Given the description of an element on the screen output the (x, y) to click on. 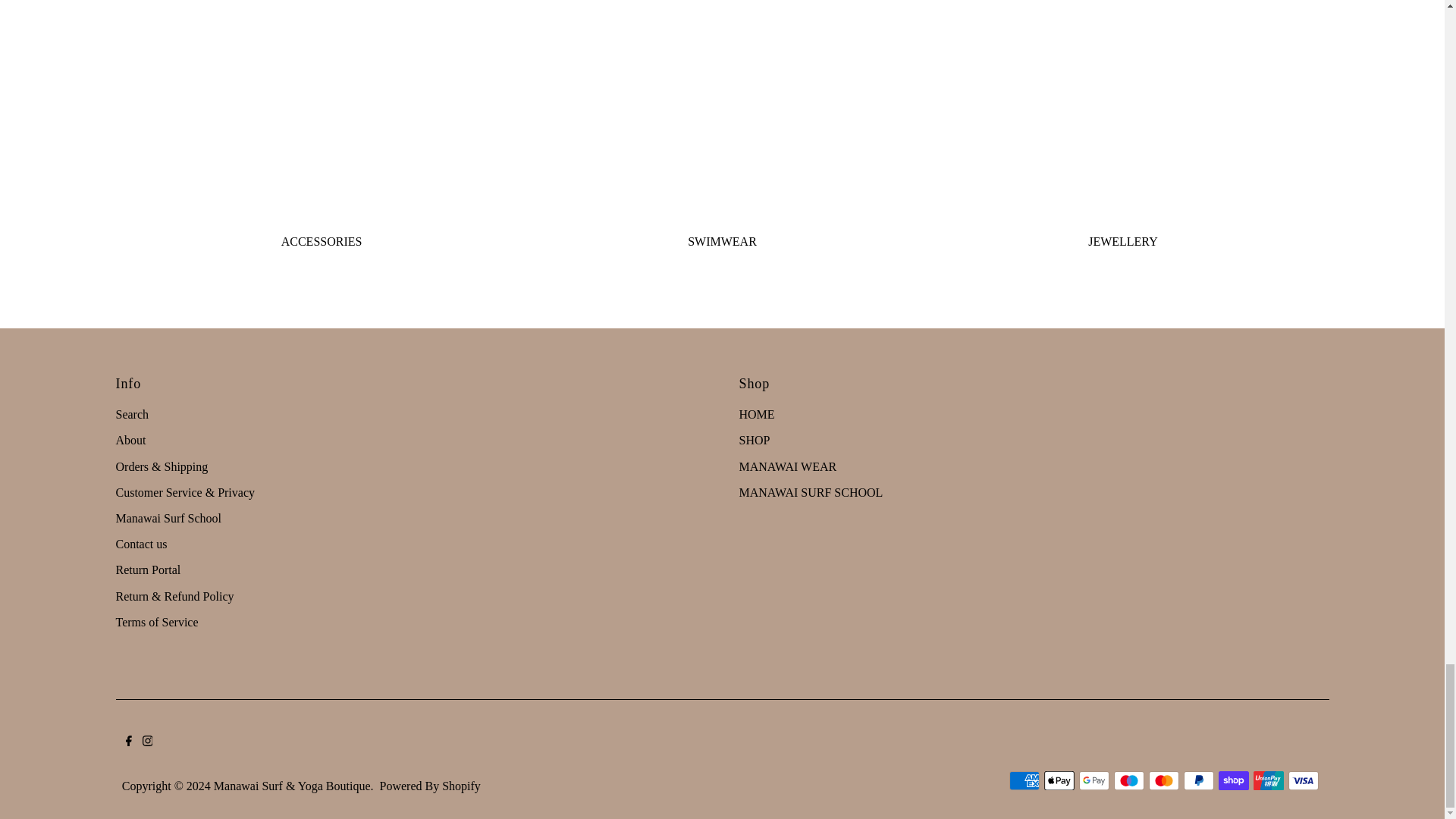
Apple Pay (1058, 780)
American Express (1024, 780)
Google Pay (1093, 780)
Mastercard (1163, 780)
ACCESSORIES (321, 241)
ACCESSORIES (321, 109)
SWIMWEAR (721, 241)
SWIMWEAR (721, 109)
Maestro (1128, 780)
PayPal (1198, 780)
JEWELLERY (1122, 109)
JEWELLERY (1122, 241)
